Given the description of an element on the screen output the (x, y) to click on. 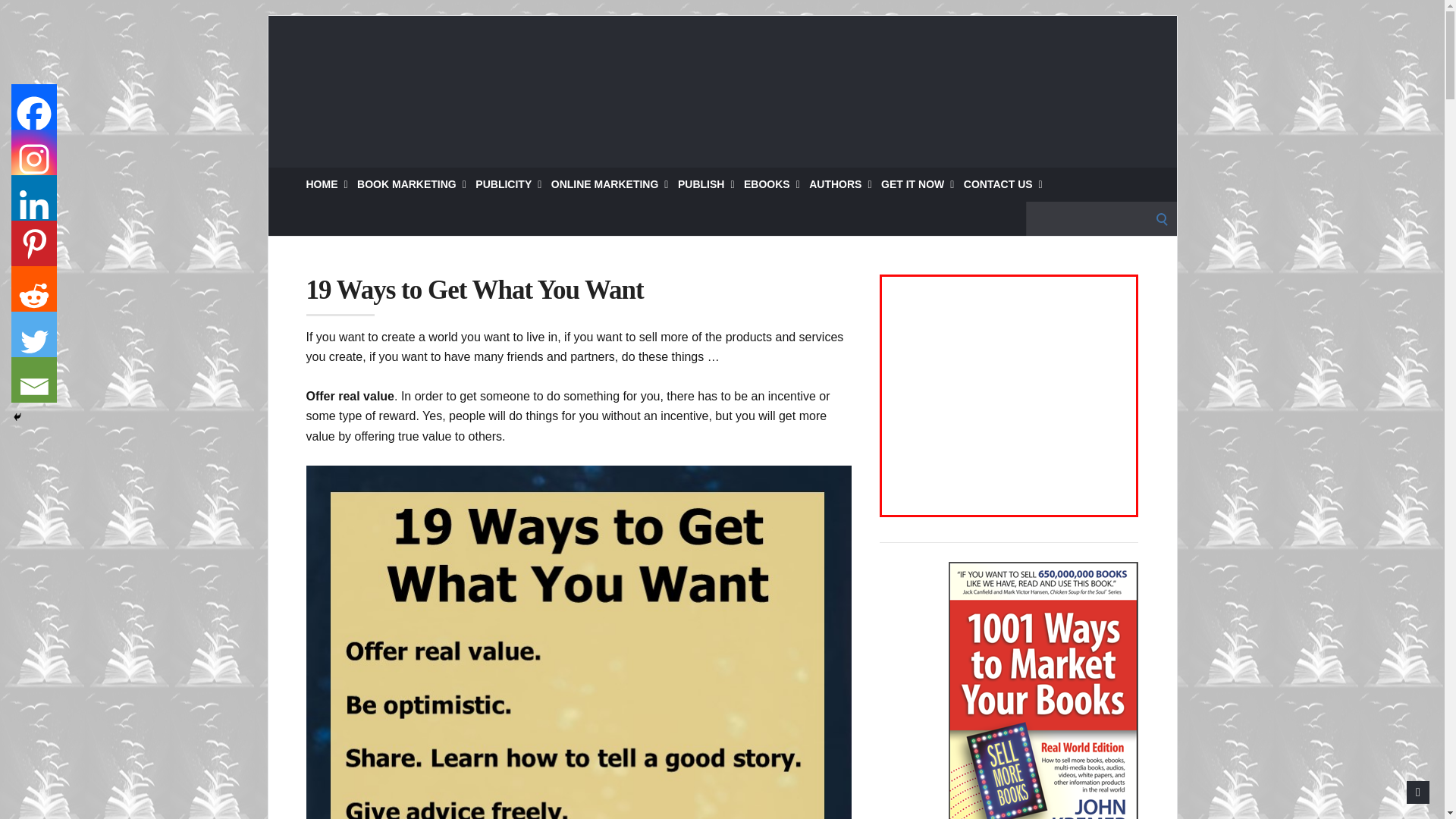
HOME (326, 184)
BOOK MARKETING (410, 184)
PUBLICITY (508, 184)
PUBLISH (706, 184)
ONLINE MARKETING (609, 184)
